Given the description of an element on the screen output the (x, y) to click on. 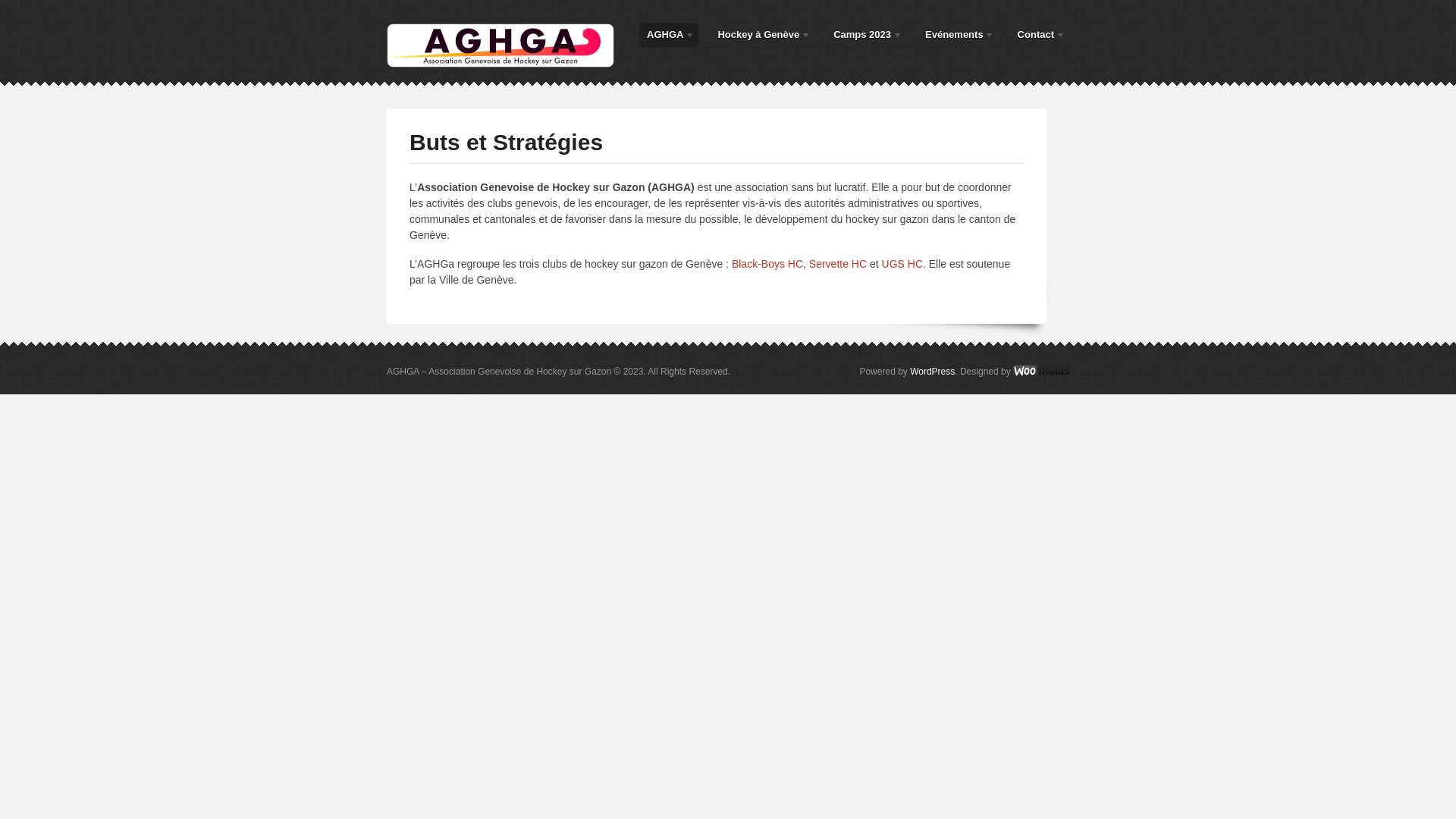
WordPress Element type: text (932, 371)
UGS HC Element type: text (901, 263)
Black-Boys HC Element type: text (767, 263)
Servette HC Element type: text (837, 263)
